Given the description of an element on the screen output the (x, y) to click on. 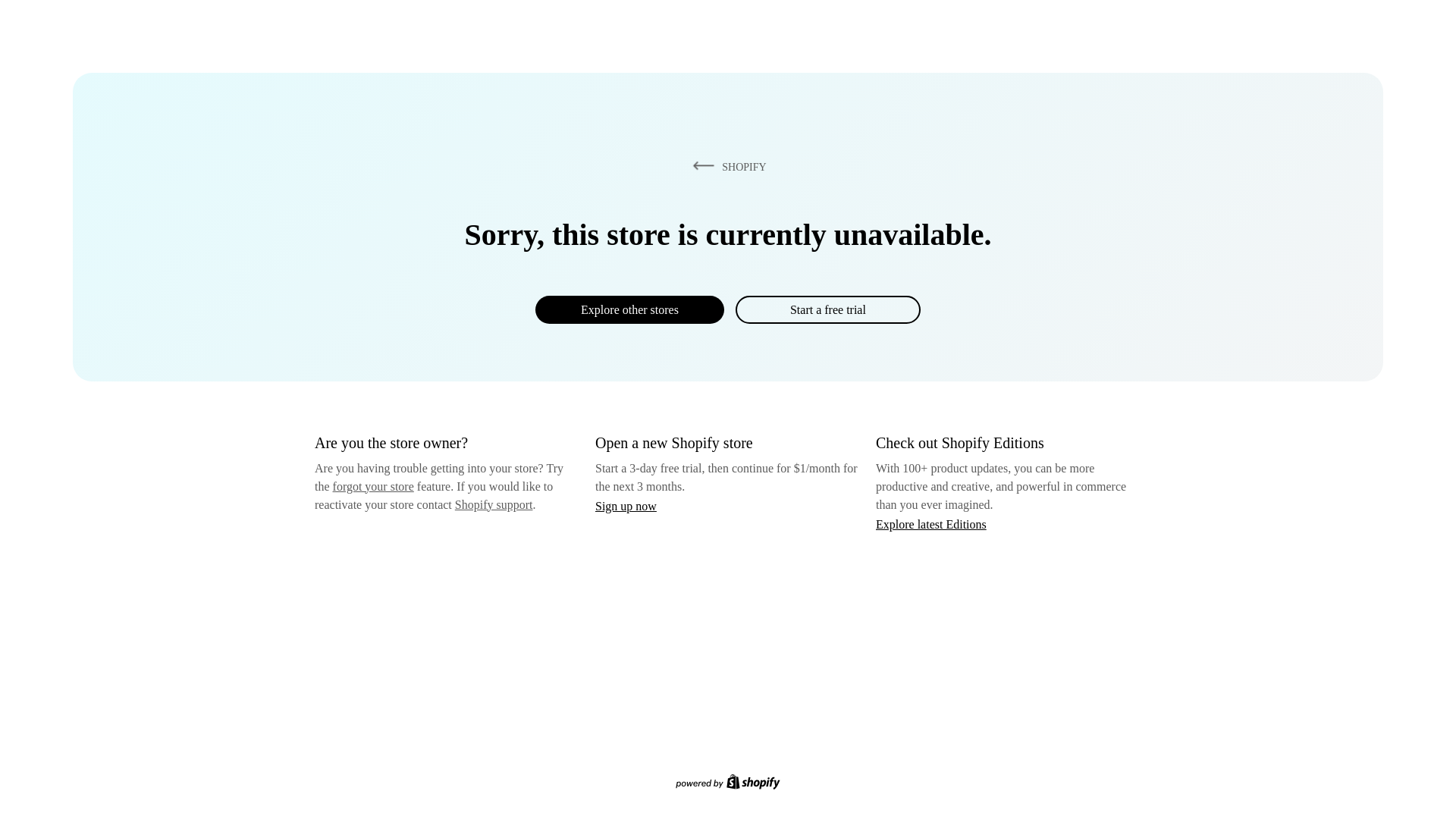
Explore other stores (629, 309)
forgot your store (373, 486)
Shopify support (493, 504)
Sign up now (625, 505)
Start a free trial (827, 309)
SHOPIFY (726, 166)
Explore latest Editions (931, 523)
